Given the description of an element on the screen output the (x, y) to click on. 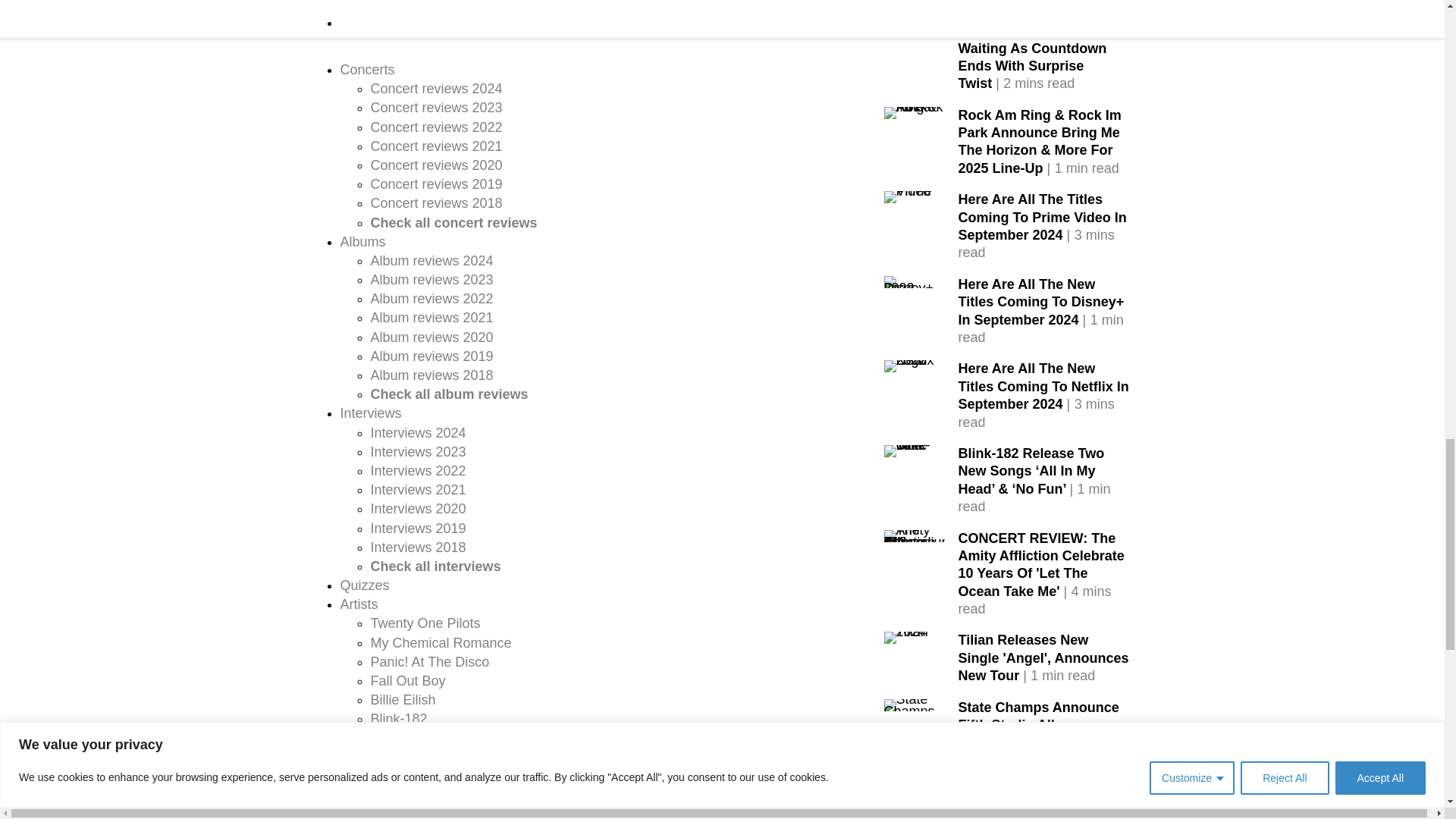
Blink-182 - Strife Mag (913, 451)
Netflix Logo 2022 - Strife Mag (913, 366)
Linkin Park One More Light Era - Strife Mag (913, 28)
Prime Video - Strife Mag (913, 196)
